Given the description of an element on the screen output the (x, y) to click on. 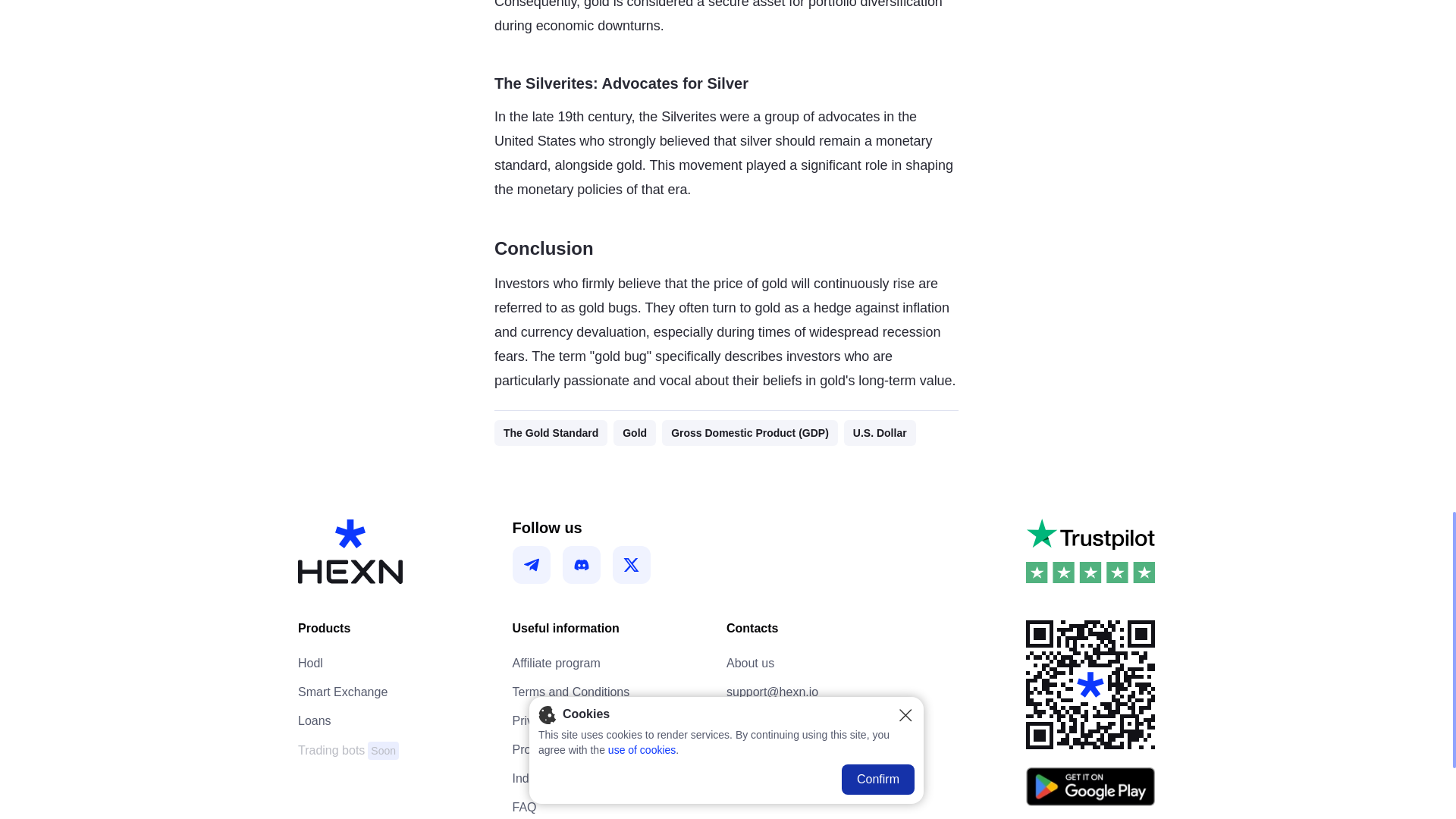
Affiliate program (555, 663)
Hodl (310, 663)
FAQ (524, 807)
Terms and Conditions (571, 692)
Proof of Reserves (561, 750)
Smart Exchange (348, 751)
Loans (342, 692)
About us (314, 720)
Indexes (750, 663)
Privacy Policy (533, 778)
